Given the description of an element on the screen output the (x, y) to click on. 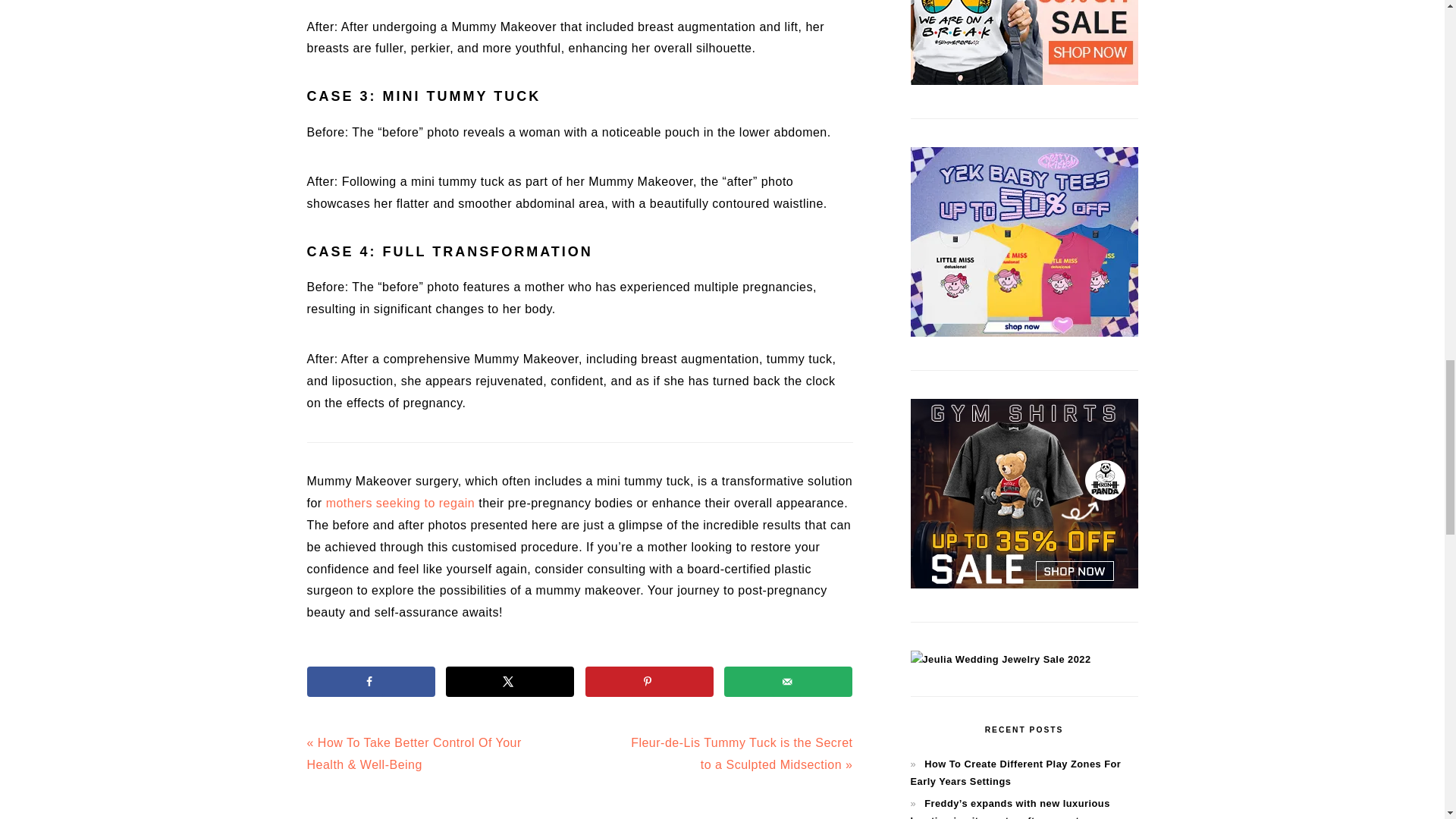
Save to Pinterest (649, 681)
Send over email (787, 681)
mothers seeking to regain (401, 502)
Share on X (509, 681)
teacher shirt (1023, 81)
Share on Facebook (369, 681)
